Given the description of an element on the screen output the (x, y) to click on. 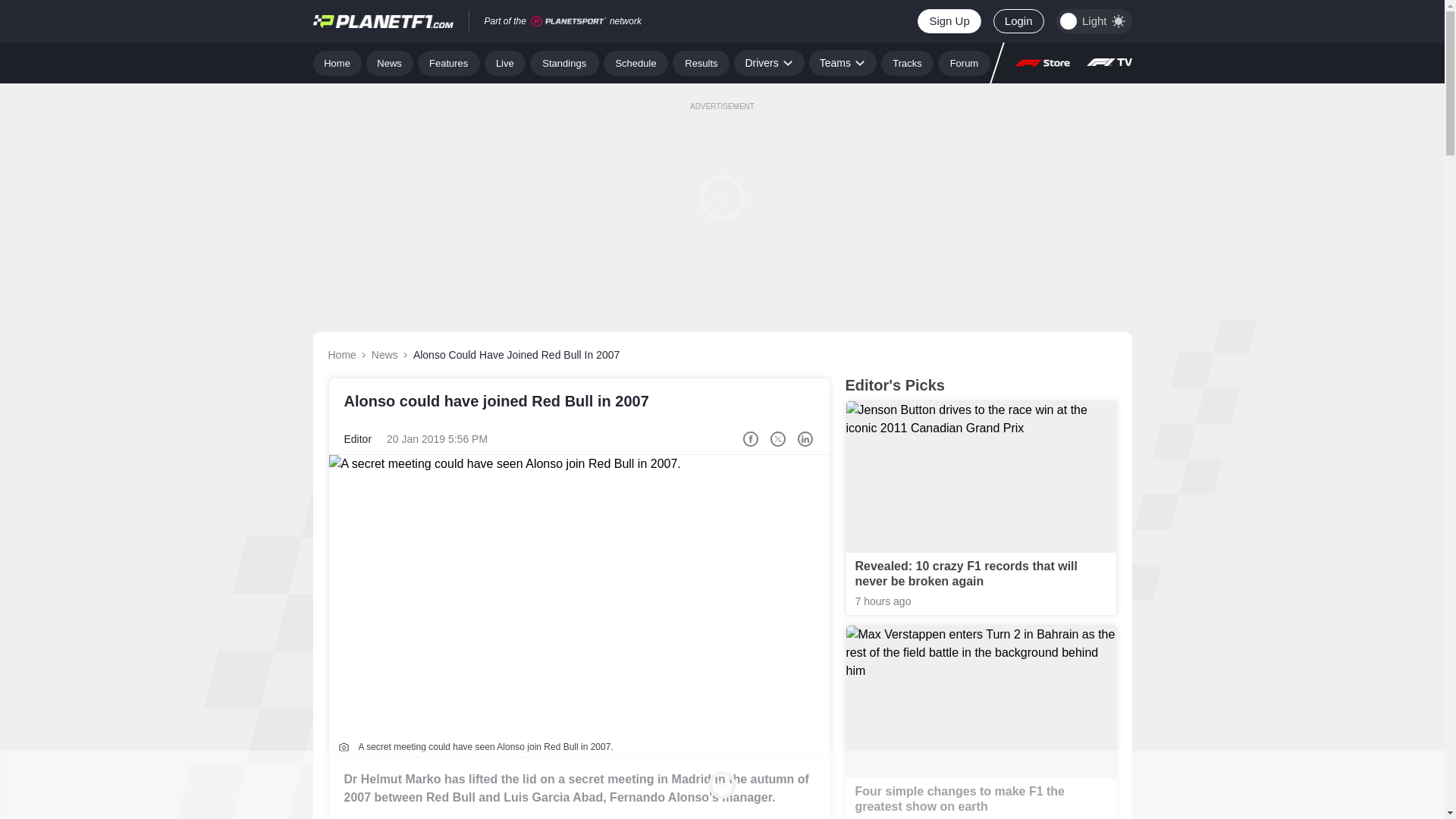
Features (448, 62)
Live (504, 62)
Standings (563, 62)
Home (337, 62)
Sign Up (948, 21)
Login (1017, 21)
Schedule (636, 62)
Drivers (768, 62)
Teams (842, 62)
News (389, 62)
